Given the description of an element on the screen output the (x, y) to click on. 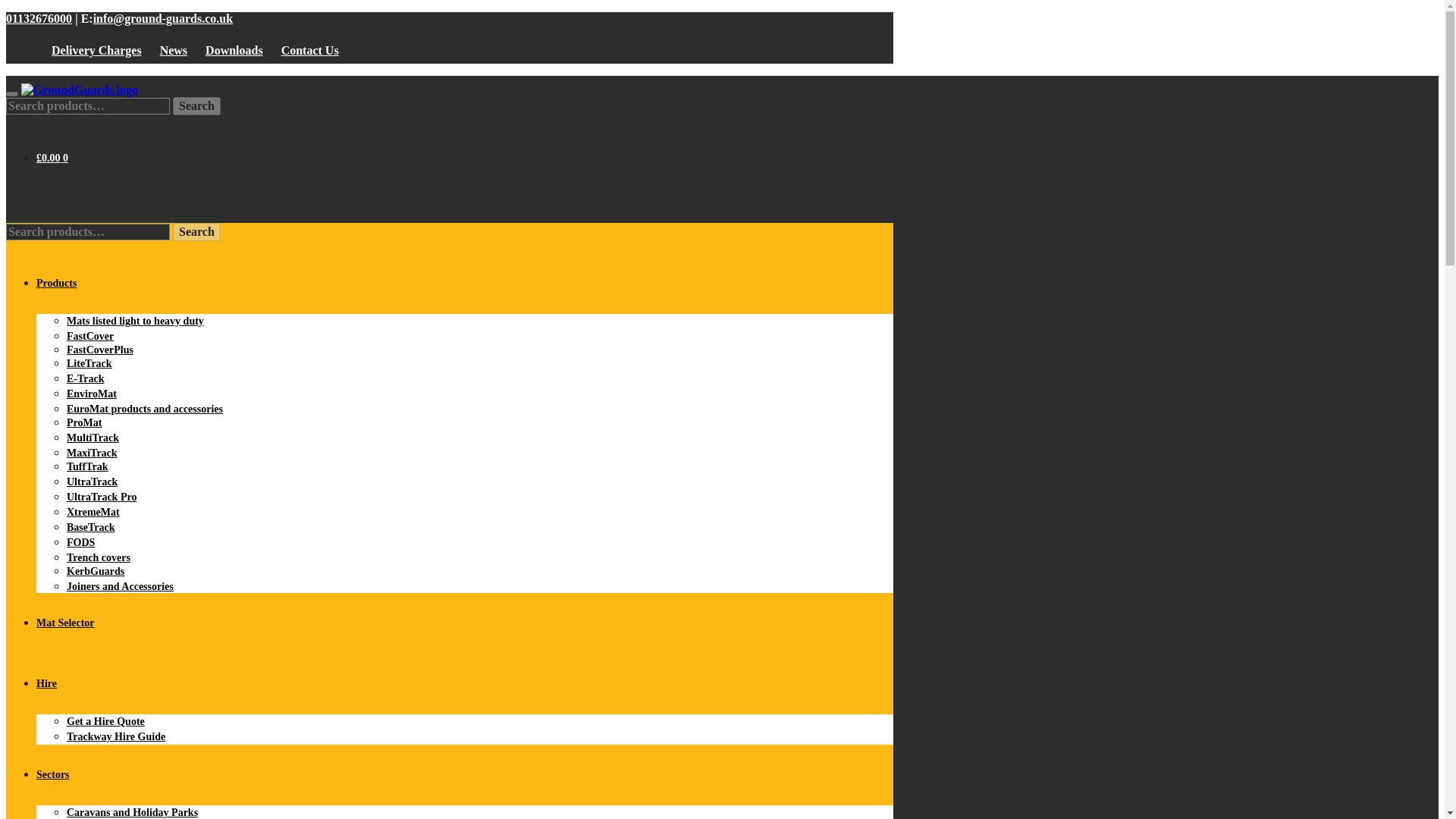
Caravans and Holiday Parks (132, 812)
KerbGuards (94, 571)
XtremeMat (92, 511)
E-Track (85, 378)
BaseTrack (90, 527)
MaxiTrack (91, 452)
Mats listed light to heavy duty (134, 320)
Joiners and Accessories (119, 586)
Trackway Hire Guide (115, 736)
